Given the description of an element on the screen output the (x, y) to click on. 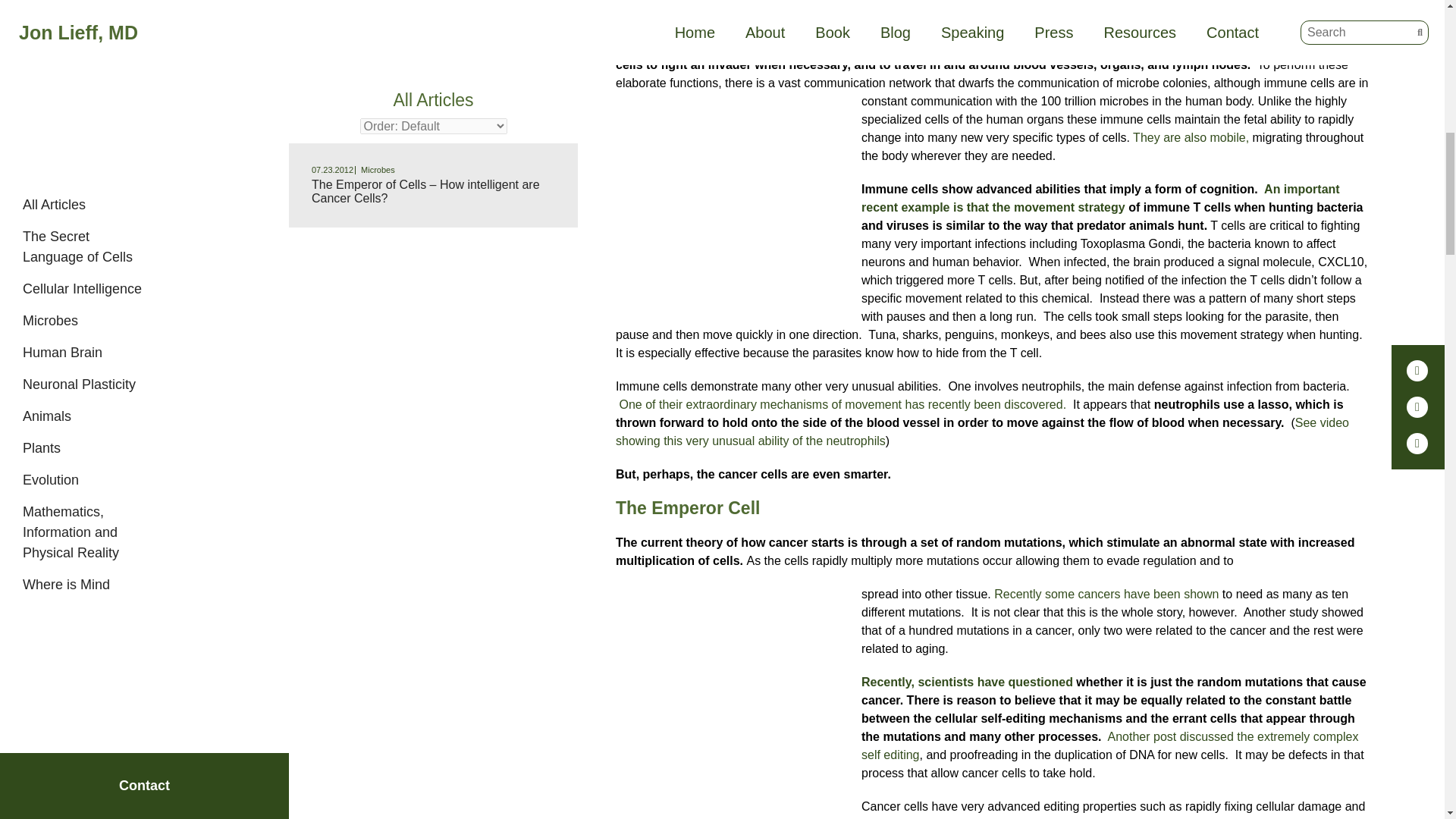
They are also mobile, (1190, 137)
Recently, scientists have questioned (967, 681)
Recently some cancers have been shown (1106, 594)
An important recent example is that the movement strategy (1100, 197)
Another post discussed the extremely complex self editing (1109, 745)
